Given the description of an element on the screen output the (x, y) to click on. 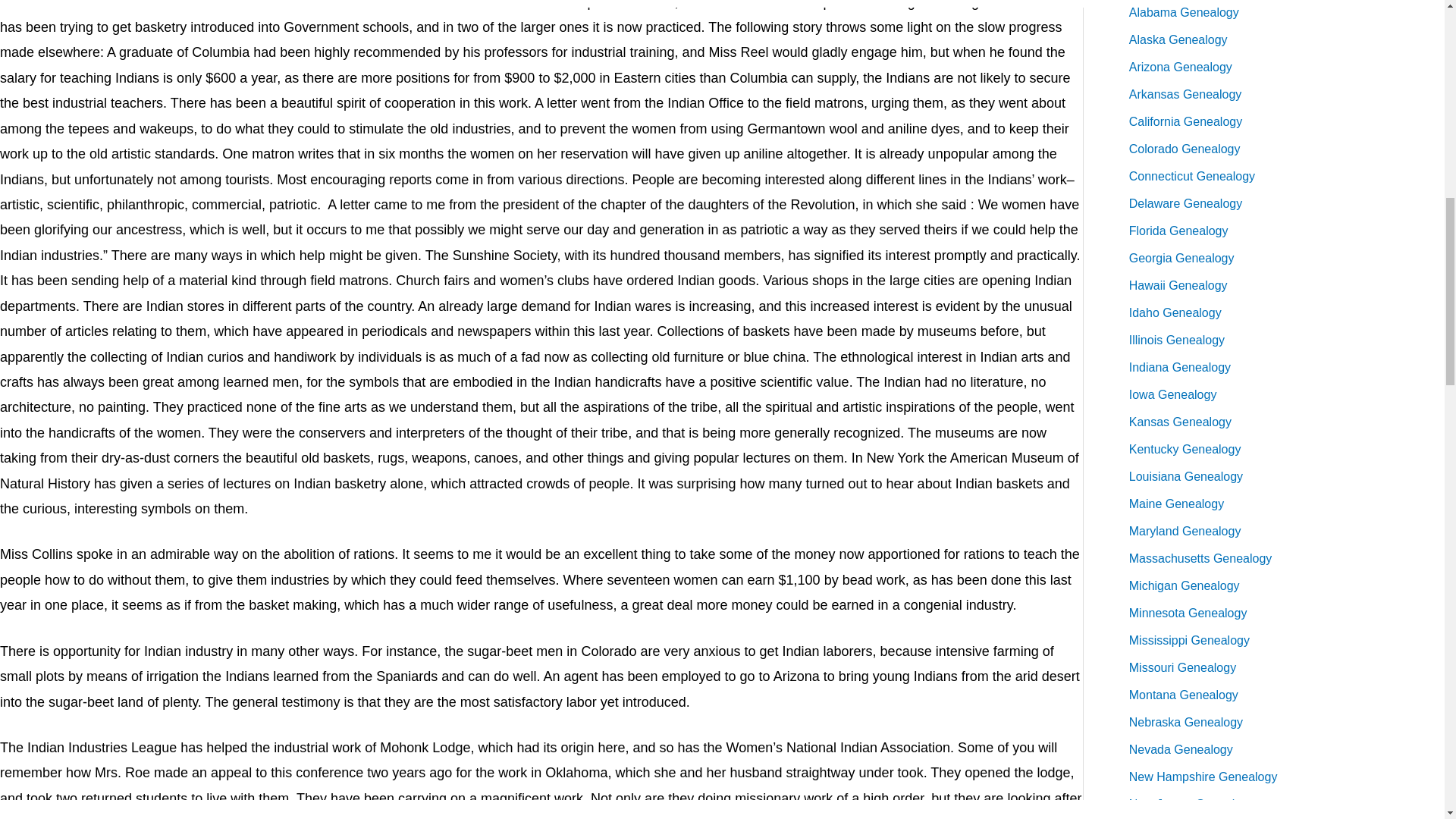
Idaho Genealogy (1175, 312)
Alaska Genealogy (1178, 39)
Alaska Genealogy (1178, 39)
Arizona Genealogy (1180, 66)
Georgia Genealogy (1181, 257)
Indiana Genealogy (1179, 367)
Arkansas Genealogy (1185, 93)
Delaware Genealogy (1185, 203)
Iowa Genealogy (1173, 394)
Alabama Genealogy (1184, 11)
